Given the description of an element on the screen output the (x, y) to click on. 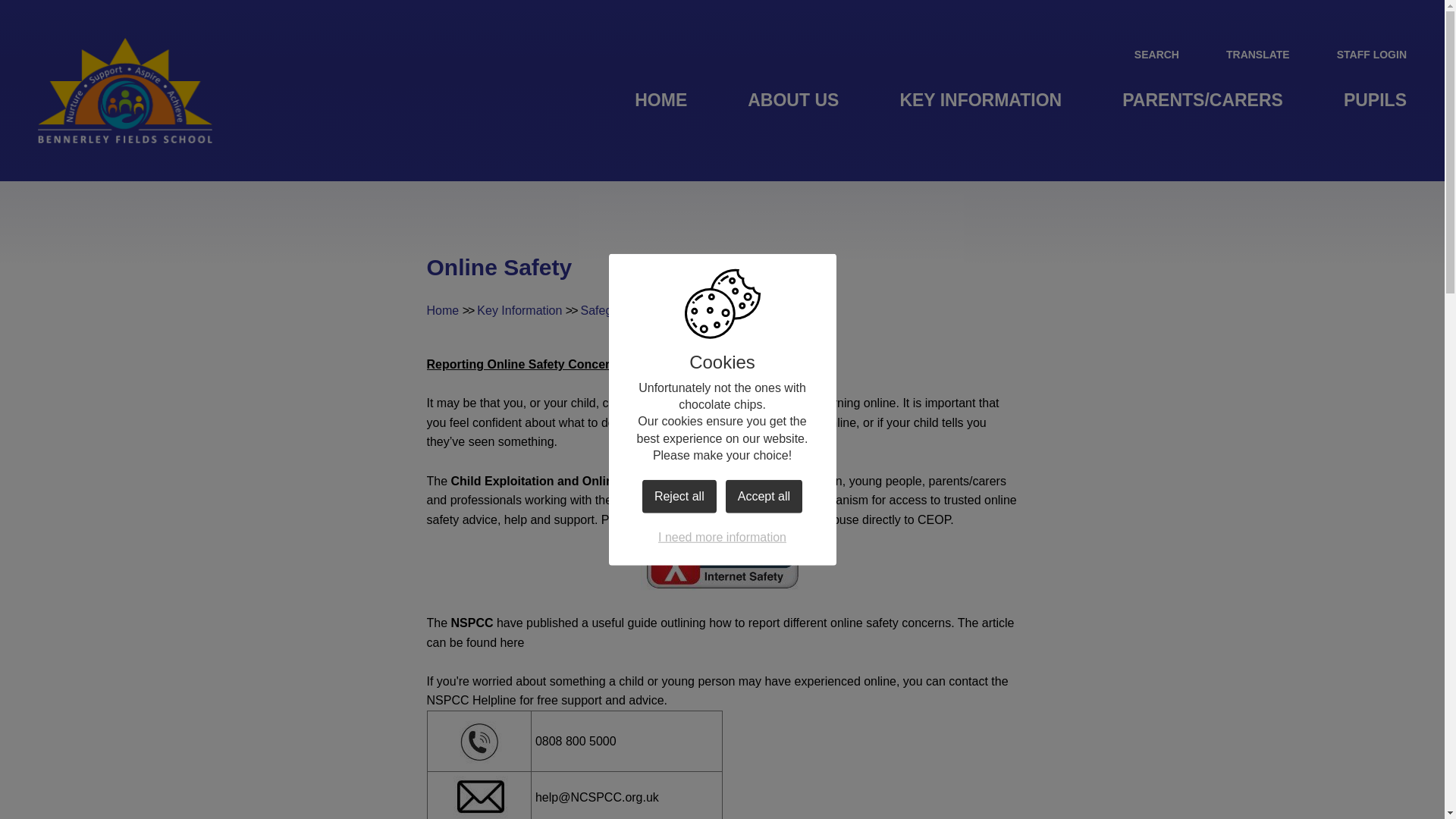
KEY INFORMATION (979, 100)
STAFF LOGIN (1358, 54)
TRANSLATE (1245, 54)
Home Page (124, 90)
HOME (660, 100)
ABOUT US (792, 100)
SEARCH (1144, 54)
